Given the description of an element on the screen output the (x, y) to click on. 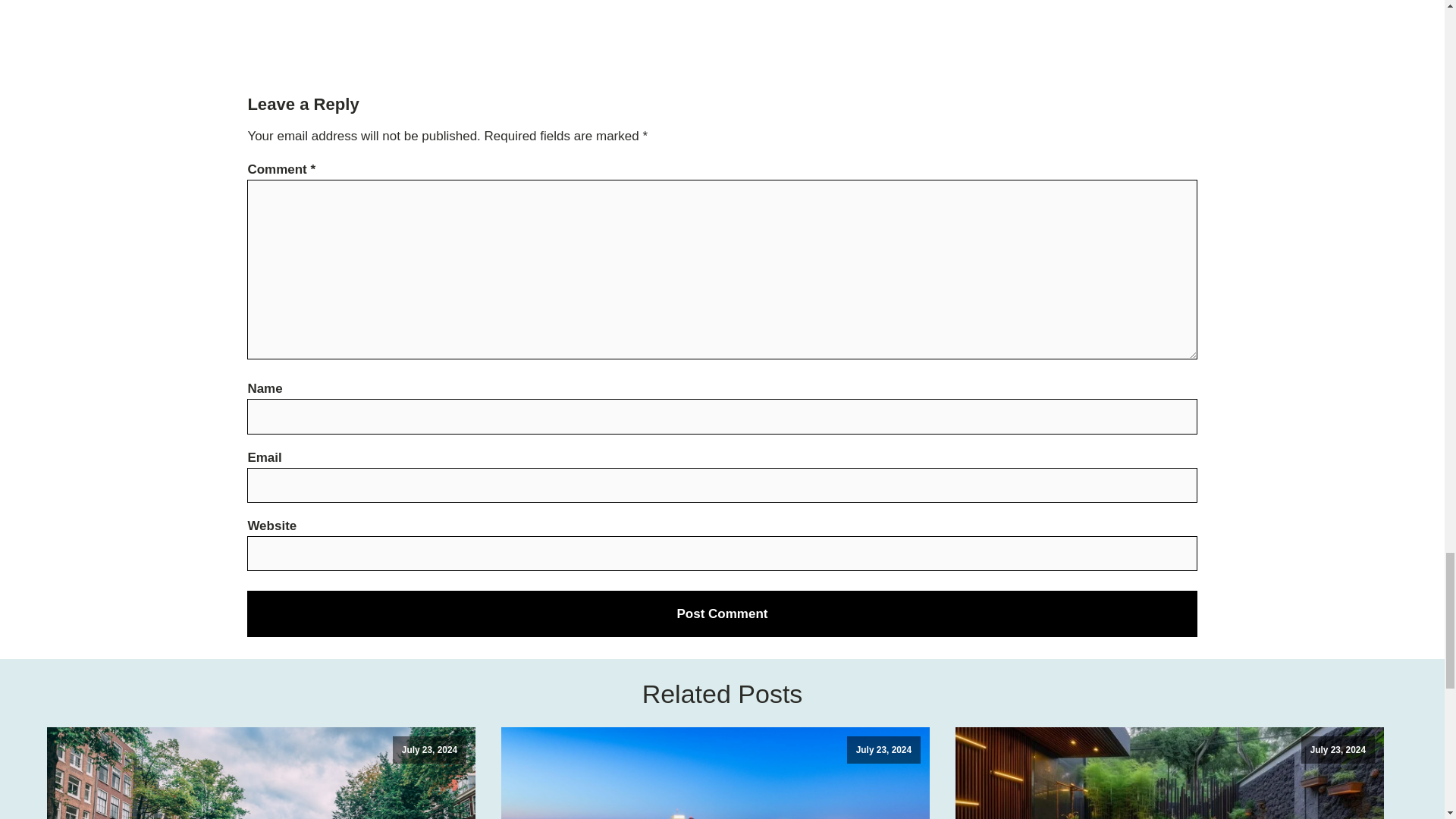
Post Comment (721, 613)
